Given the description of an element on the screen output the (x, y) to click on. 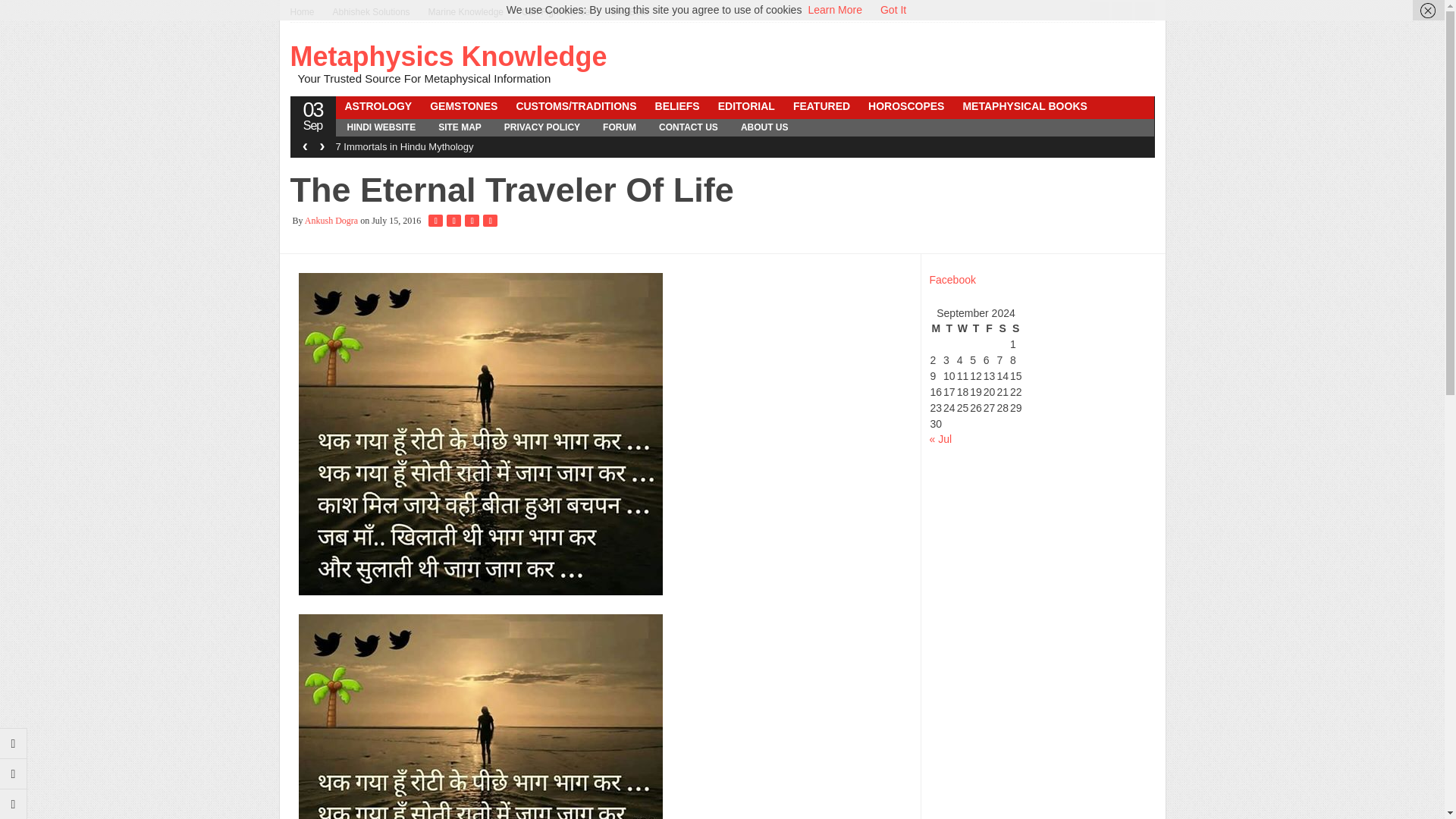
Your Trusted Source For Metaphysical Information (306, 12)
Marine Knowledge (465, 12)
VAASTU (730, 145)
NUMEROLOGY (543, 125)
SPIRITUALITY (896, 125)
Abhishek Solutions (371, 12)
STRANGE BUT TRUE (397, 145)
BELIEFS (677, 106)
HOROSCOPES (906, 106)
GEMSTONES (463, 106)
